Given the description of an element on the screen output the (x, y) to click on. 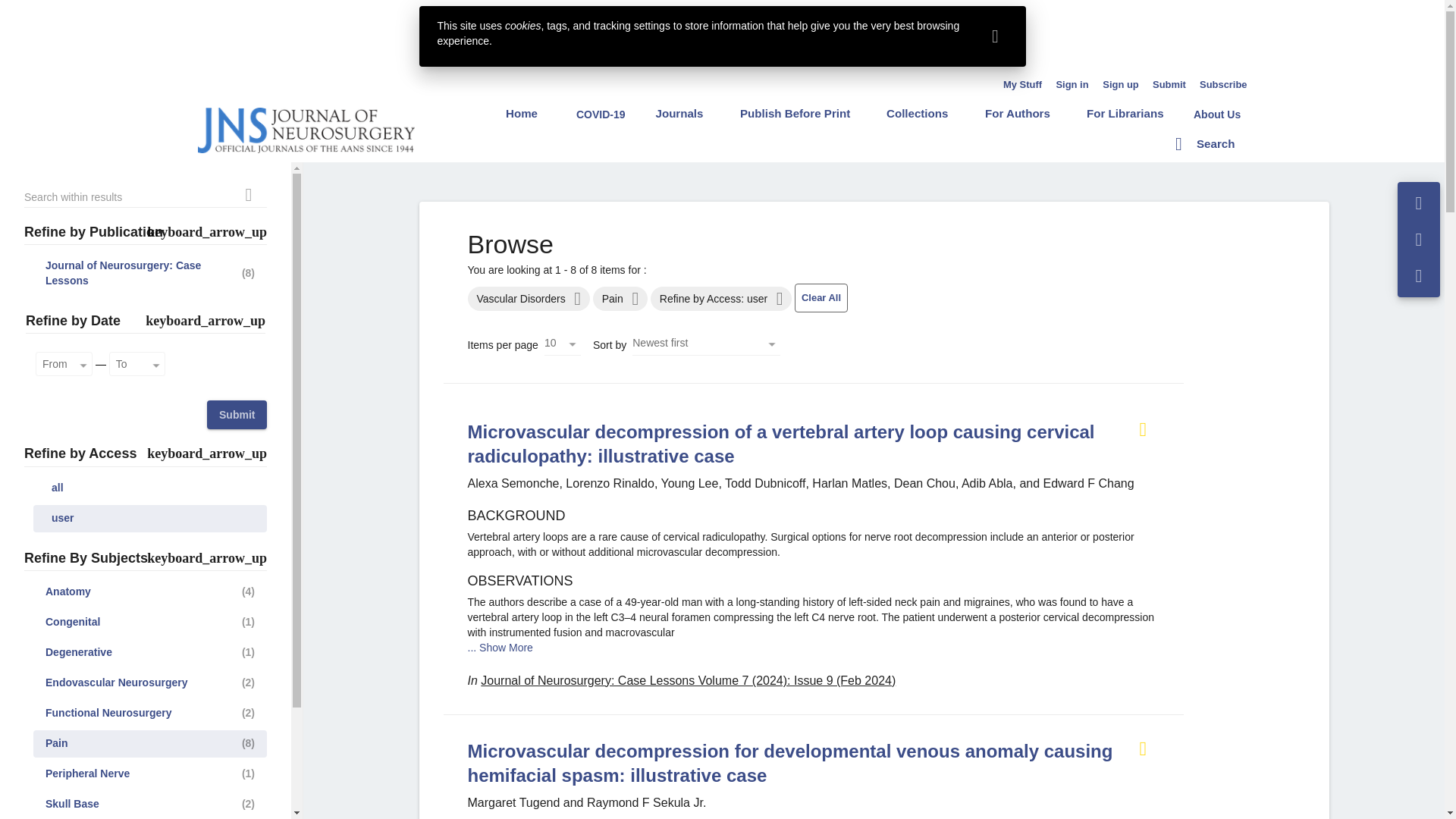
Journals (679, 113)
For Authors (1017, 113)
Publish Before Print (794, 113)
Search (1204, 143)
all (149, 488)
Home (521, 113)
My Stuff (1022, 84)
Dismiss this warning (994, 36)
Home (521, 113)
My Stuff (1022, 84)
About Us (1216, 113)
Publish Before Print (794, 113)
For Librarians (1125, 113)
Subscribe (1223, 84)
Search within results (248, 195)
